Given the description of an element on the screen output the (x, y) to click on. 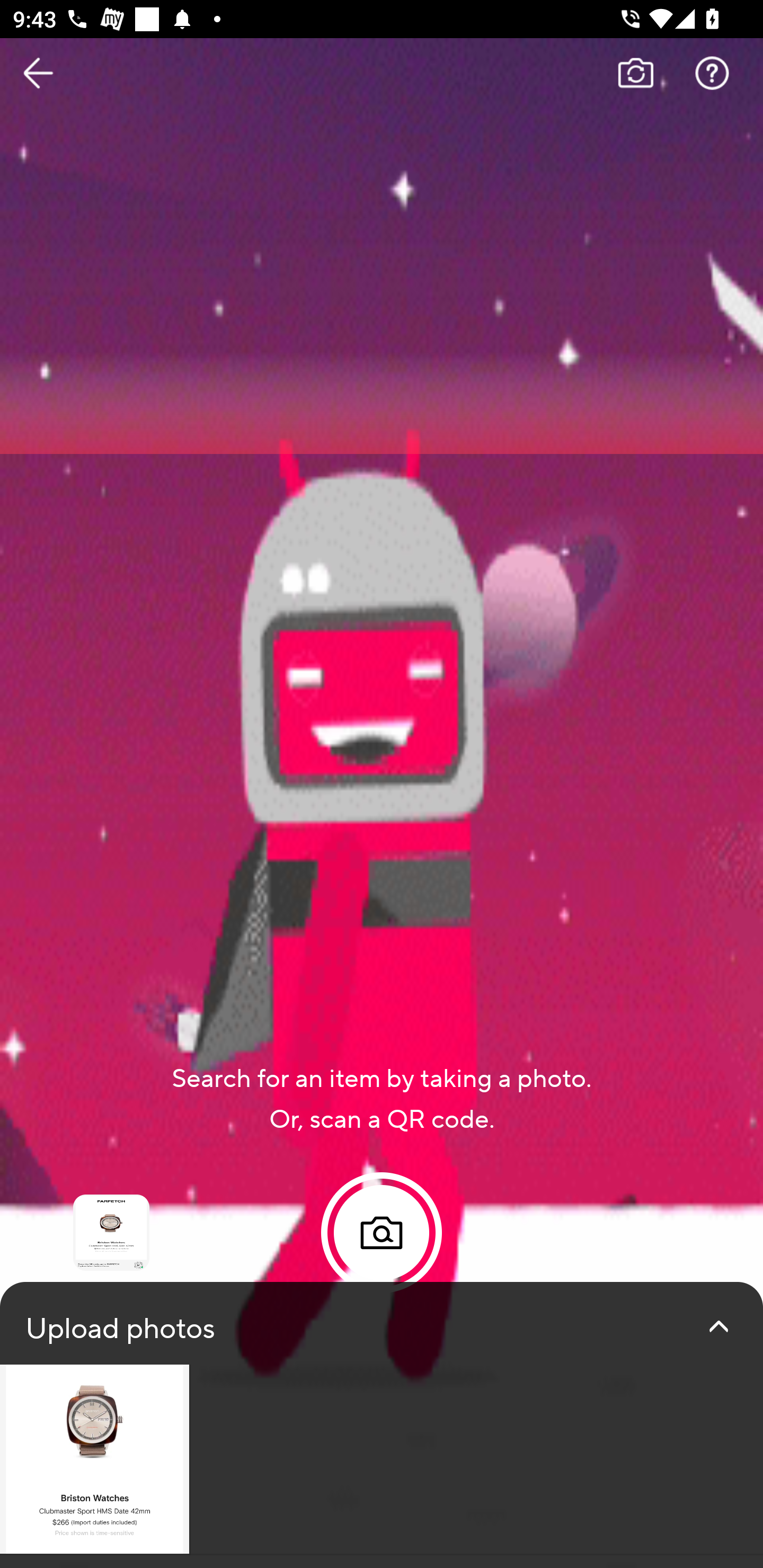
Upload photos  (381, 1425)
 (718, 1326)
